Given the description of an element on the screen output the (x, y) to click on. 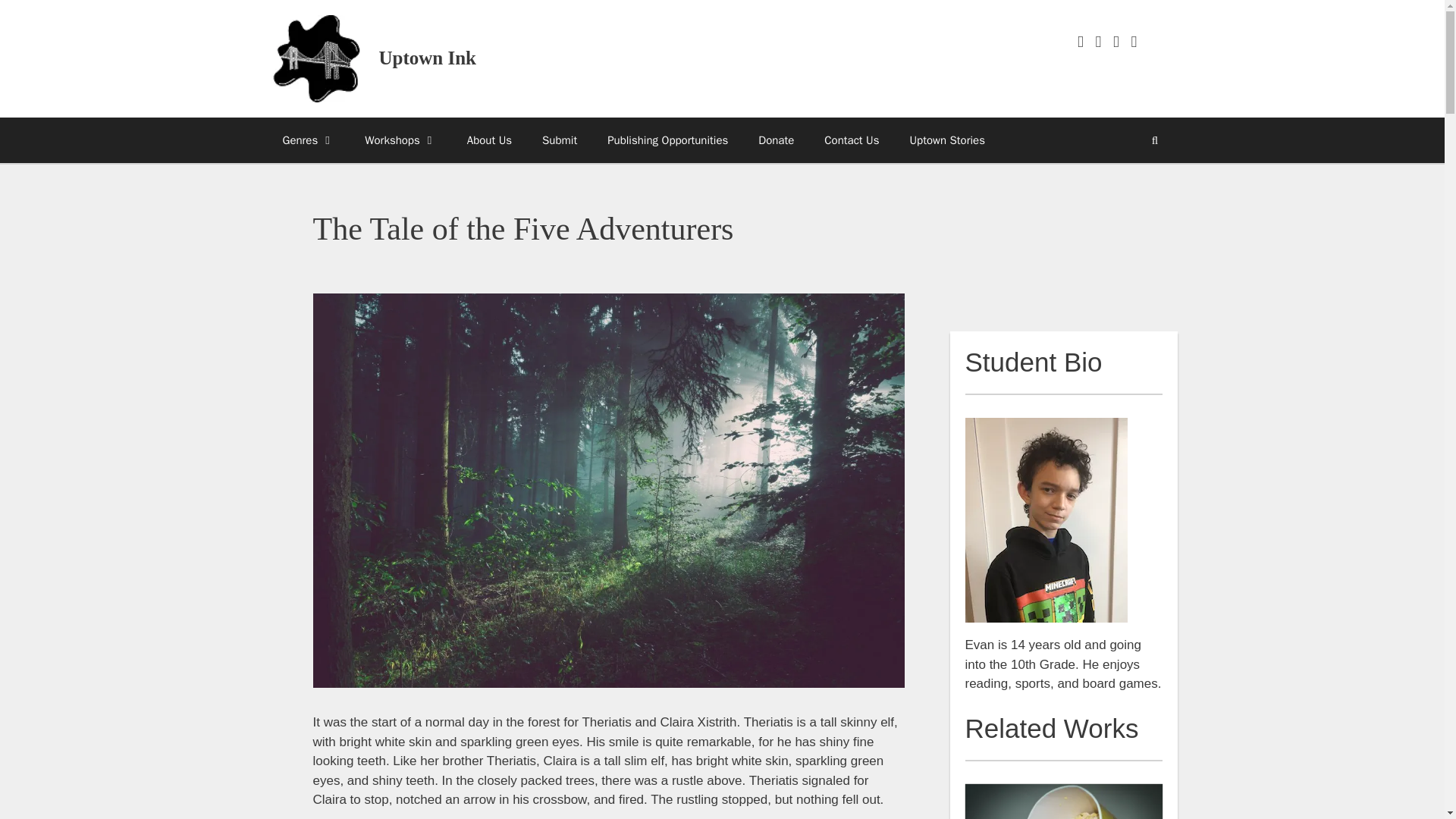
Publishing Opportunities (667, 139)
About Us (489, 139)
Uptown Ink (315, 57)
Workshops (400, 139)
Uptown Ink (427, 57)
Genres (307, 139)
Submit (559, 139)
Uptown Ink (315, 58)
